Given the description of an element on the screen output the (x, y) to click on. 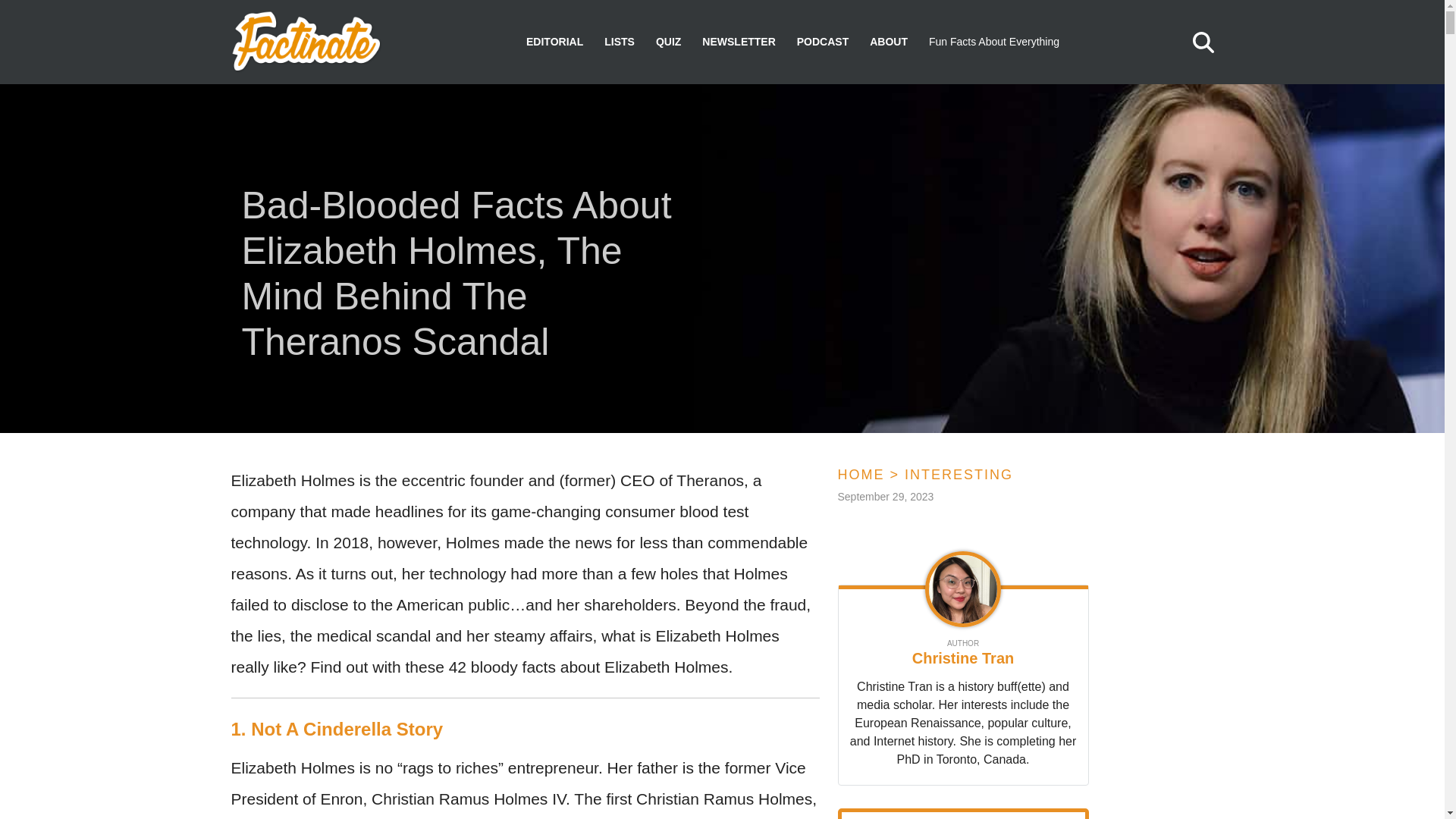
NEWSLETTER (737, 41)
QUIZ (668, 41)
PODCAST (822, 41)
ABOUT (888, 41)
LISTS (619, 41)
EDITORIAL (554, 41)
